Given the description of an element on the screen output the (x, y) to click on. 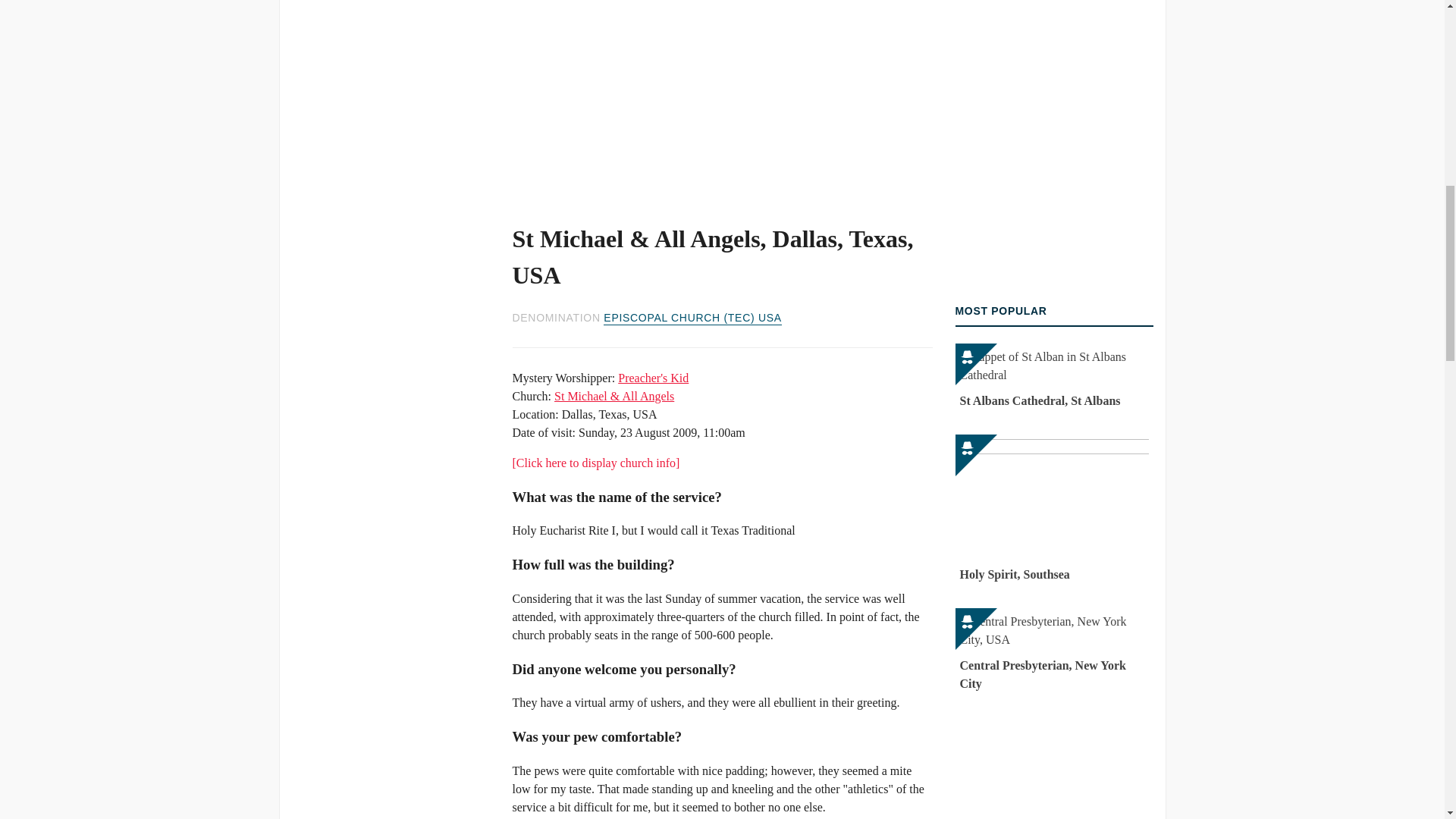
Central Presbyterian, New York City (1054, 652)
St Albans Cathedral, St Albans (1054, 378)
Holy Spirit, Southsea (1054, 511)
Posts by Preacher's Kid (652, 377)
Preacher's Kid (652, 377)
